Given the description of an element on the screen output the (x, y) to click on. 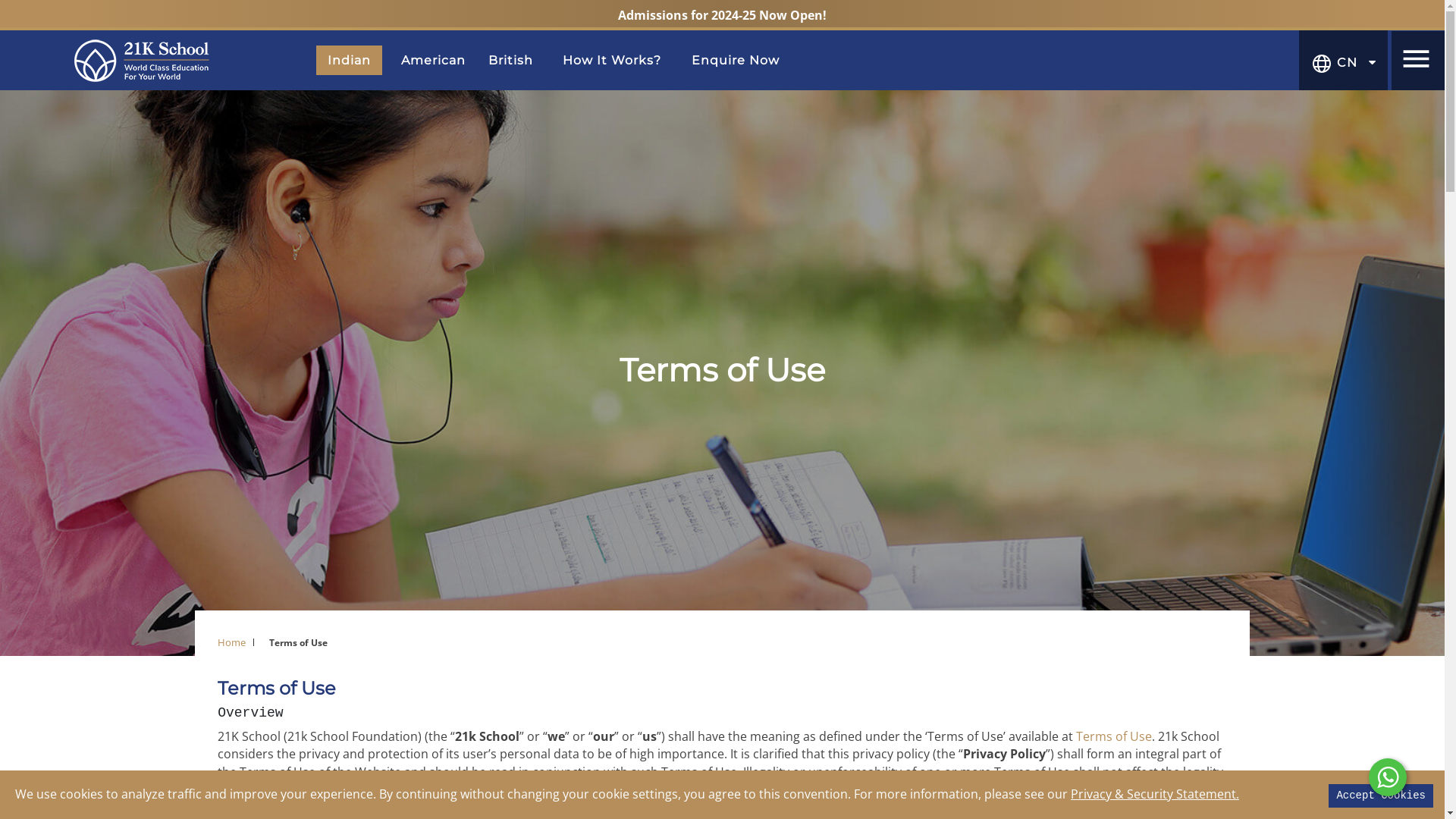
Accept Cookies Element type: text (1380, 795)
How It Works? Element type: text (611, 60)
Enquire Now Element type: text (735, 60)
Indian Element type: text (349, 60)
American Element type: text (432, 60)
Admissions for 2024-25 Now Open! Element type: text (722, 14)
Home Element type: text (231, 642)
British Element type: text (510, 60)
Terms of Use Element type: text (1113, 736)
Privacy & Security Statement. Element type: text (1154, 793)
CN    Element type: text (1343, 62)
